Given the description of an element on the screen output the (x, y) to click on. 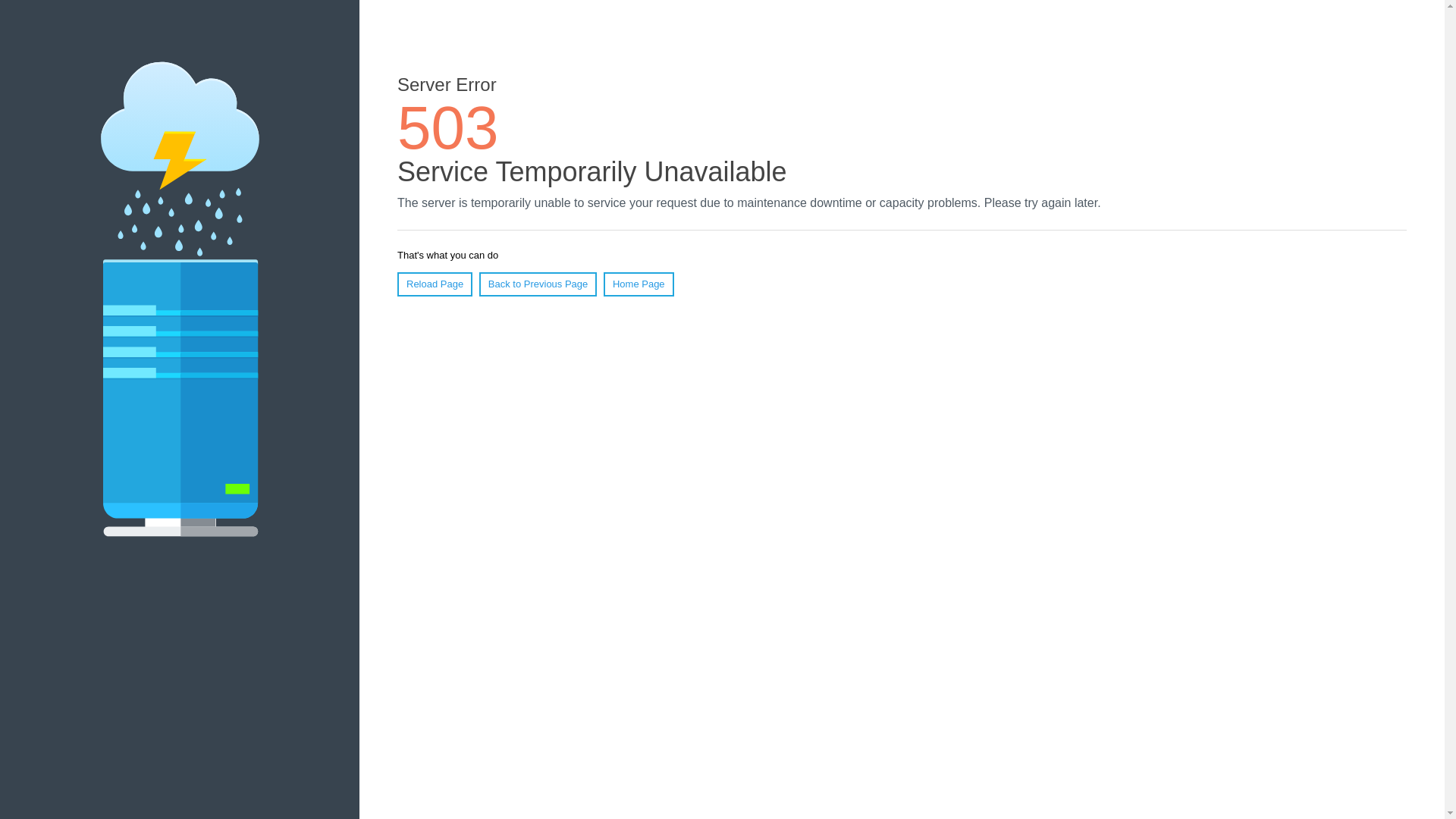
Home Page (639, 283)
Reload Page (434, 283)
Back to Previous Page (537, 283)
